Given the description of an element on the screen output the (x, y) to click on. 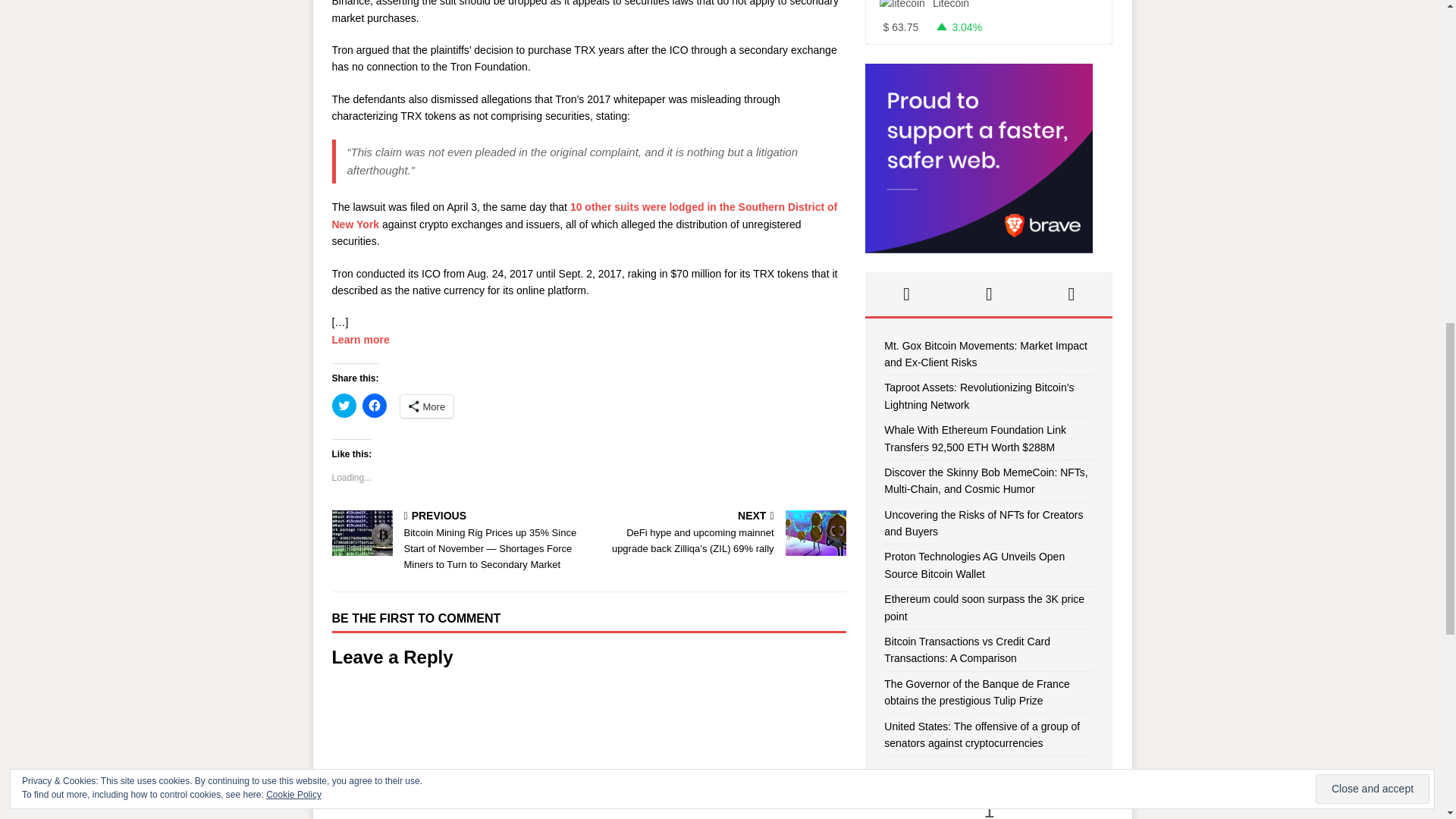
Comment Form (588, 750)
Learn more (360, 339)
Click to share on Twitter (343, 405)
1 (989, 806)
More (427, 405)
Click to share on Facebook (374, 405)
